Given the description of an element on the screen output the (x, y) to click on. 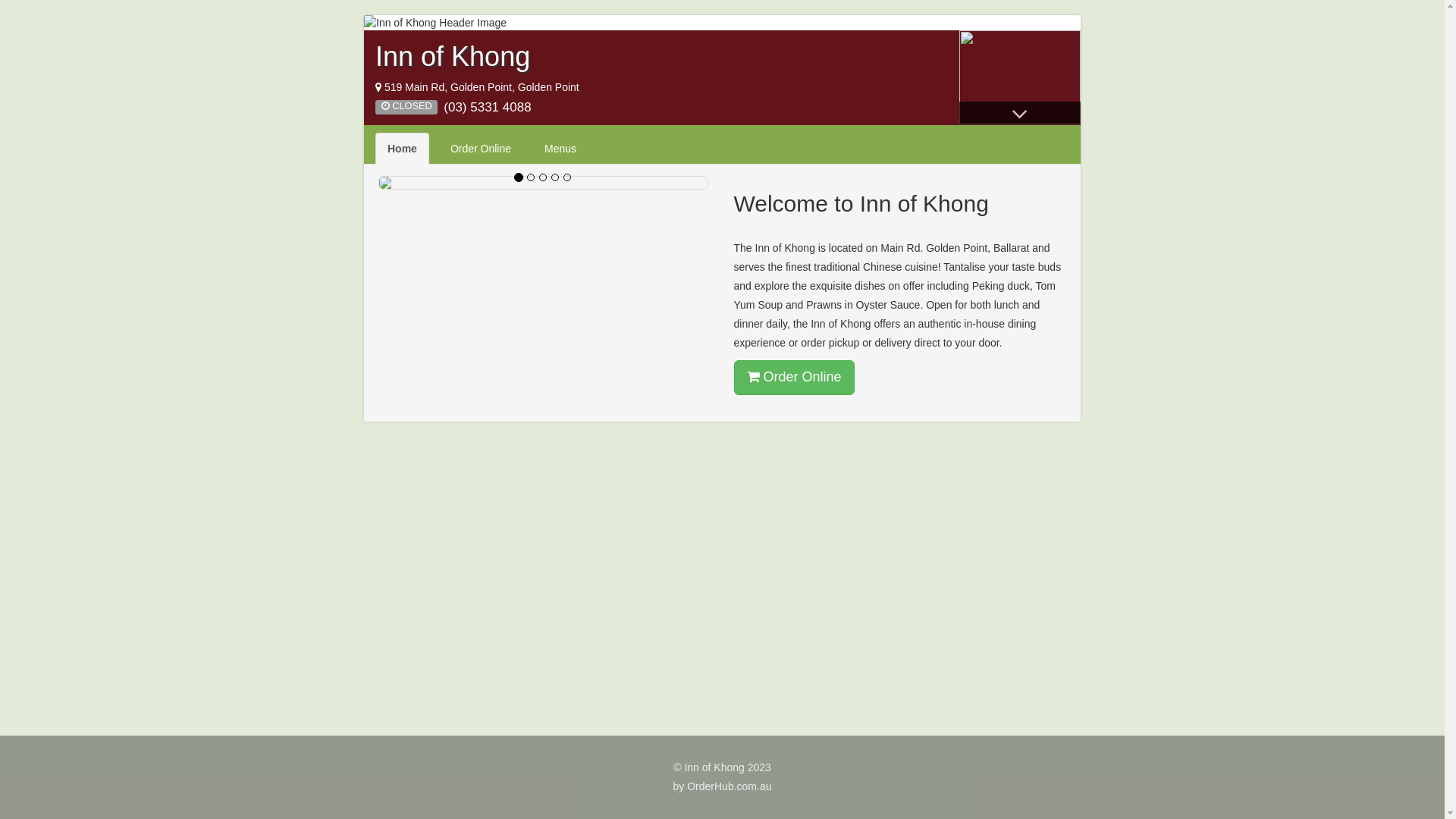
Menus Element type: text (560, 148)
Order Online Element type: text (794, 377)
Order Online Element type: text (480, 148)
Home Element type: text (402, 148)
OrderHub.com.au Element type: text (729, 786)
